Given the description of an element on the screen output the (x, y) to click on. 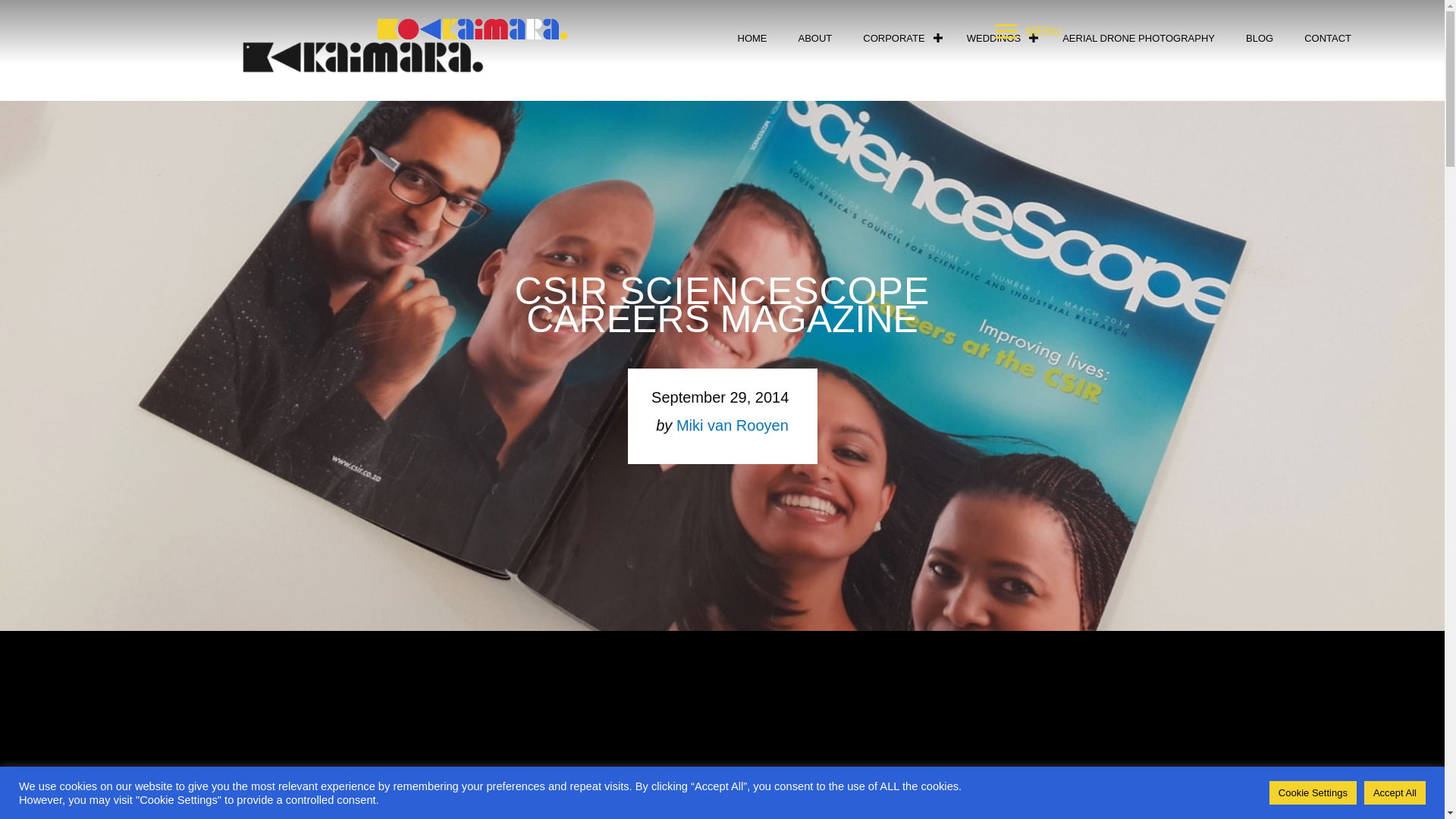
WEDDINGS (999, 37)
ABOUT (815, 37)
AERIAL DRONE PHOTOGRAPHY (1138, 37)
Miki van Rooyen (733, 425)
HOME (751, 37)
MENU (1027, 31)
CONTACT (1327, 37)
CORPORATE (898, 37)
BLOG (1259, 37)
Asset 1 (472, 28)
